Given the description of an element on the screen output the (x, y) to click on. 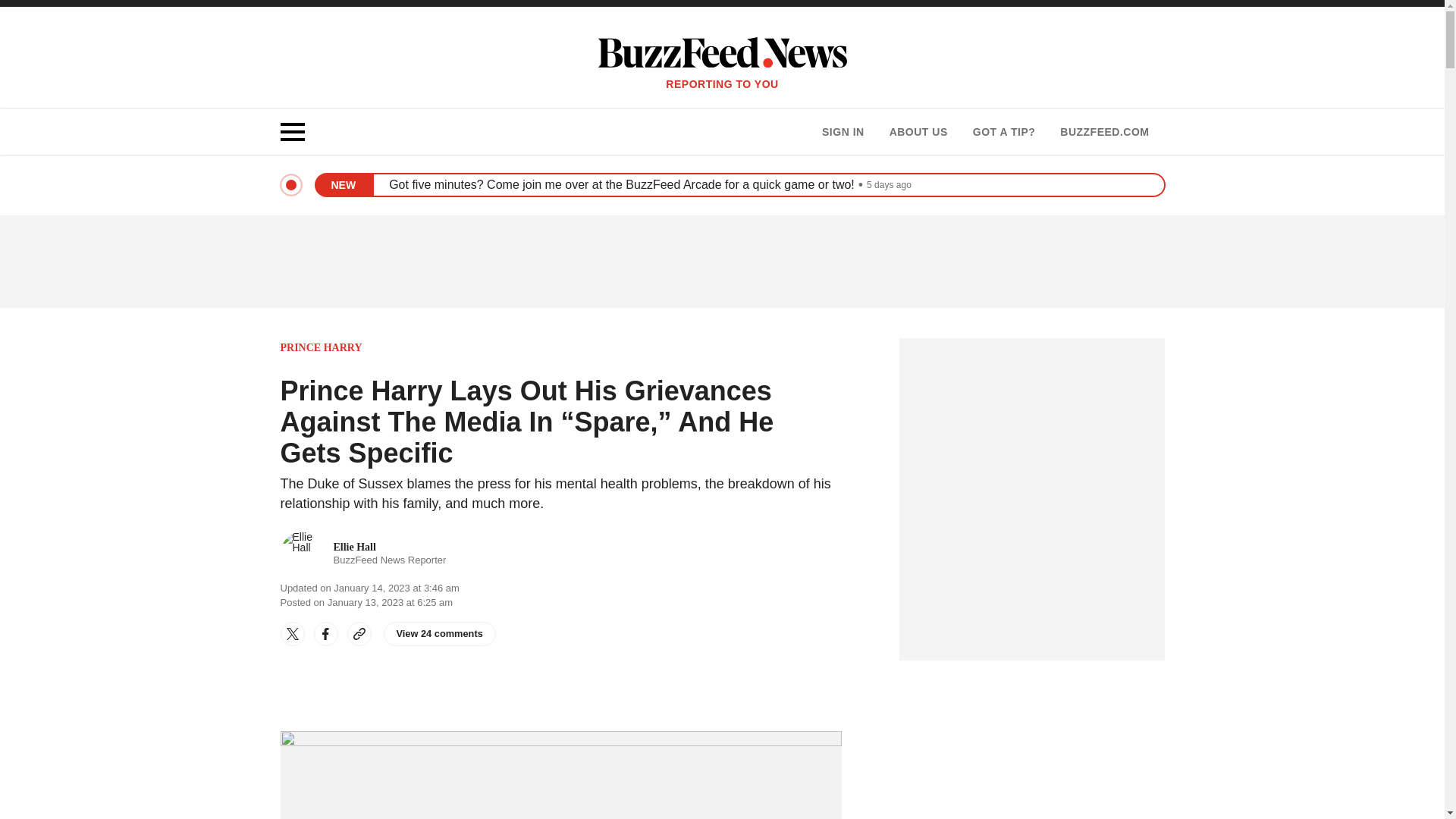
GOT A TIP? (363, 553)
ABOUT US (1003, 131)
View 24 comments (917, 131)
BUZZFEED.COM (440, 633)
PRINCE HARRY (1103, 131)
SIGN IN (321, 347)
